Given the description of an element on the screen output the (x, y) to click on. 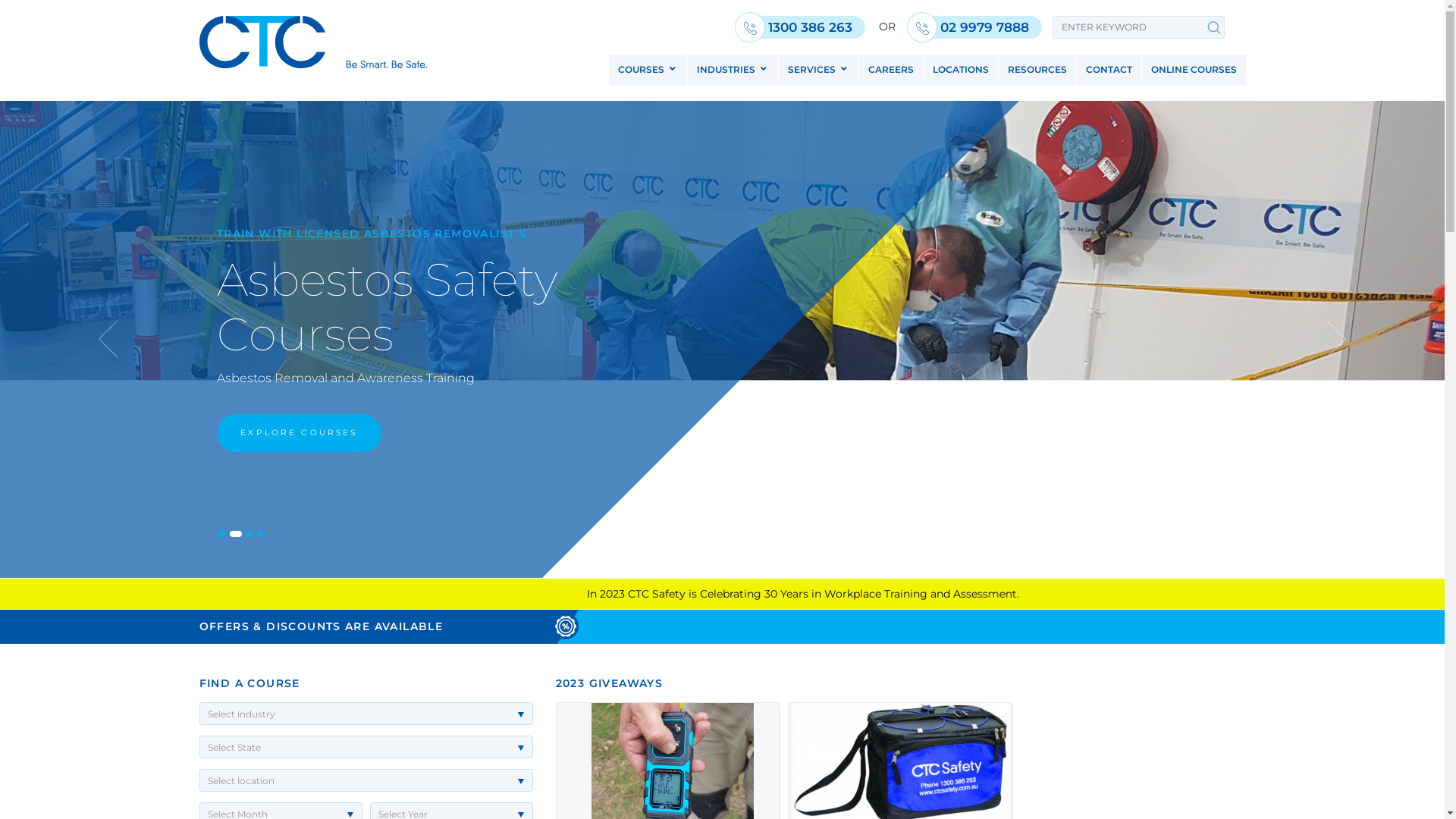
02 9979 7888 Element type: text (977, 26)
Previous Element type: text (108, 338)
Next Element type: text (1335, 338)
RESOURCES Element type: text (1036, 69)
COURSES Element type: text (647, 69)
CONTACT Element type: text (1108, 69)
LOCATIONS Element type: text (960, 69)
INDUSTRIES Element type: text (732, 69)
SERVICES Element type: text (817, 69)
CAREERS Element type: text (890, 69)
ONLINE COURSES Element type: text (1193, 69)
EXPLORE COURSES Element type: text (298, 432)
1300 386 263 Element type: text (803, 26)
